Given the description of an element on the screen output the (x, y) to click on. 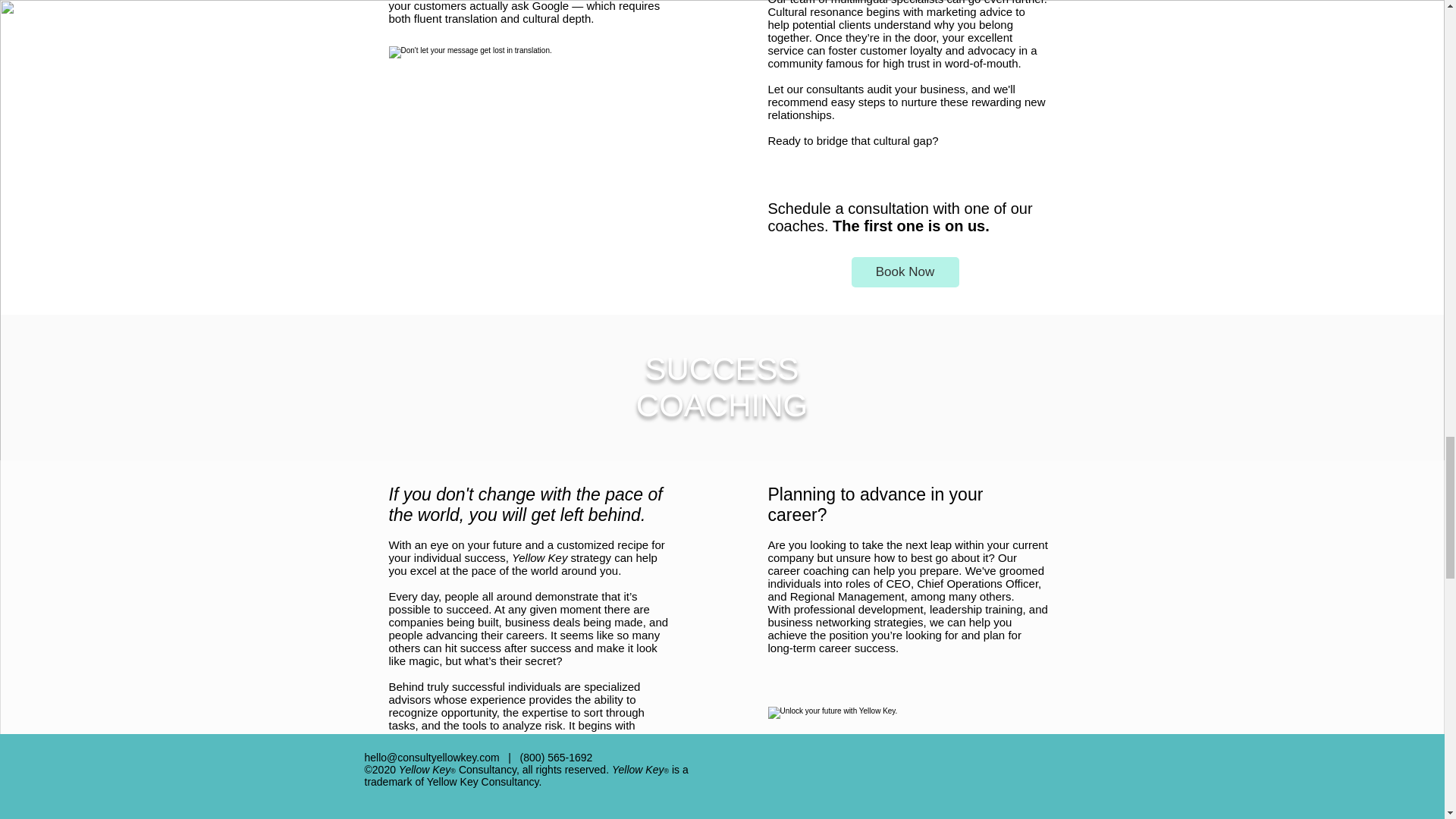
Book Now (904, 271)
